Given the description of an element on the screen output the (x, y) to click on. 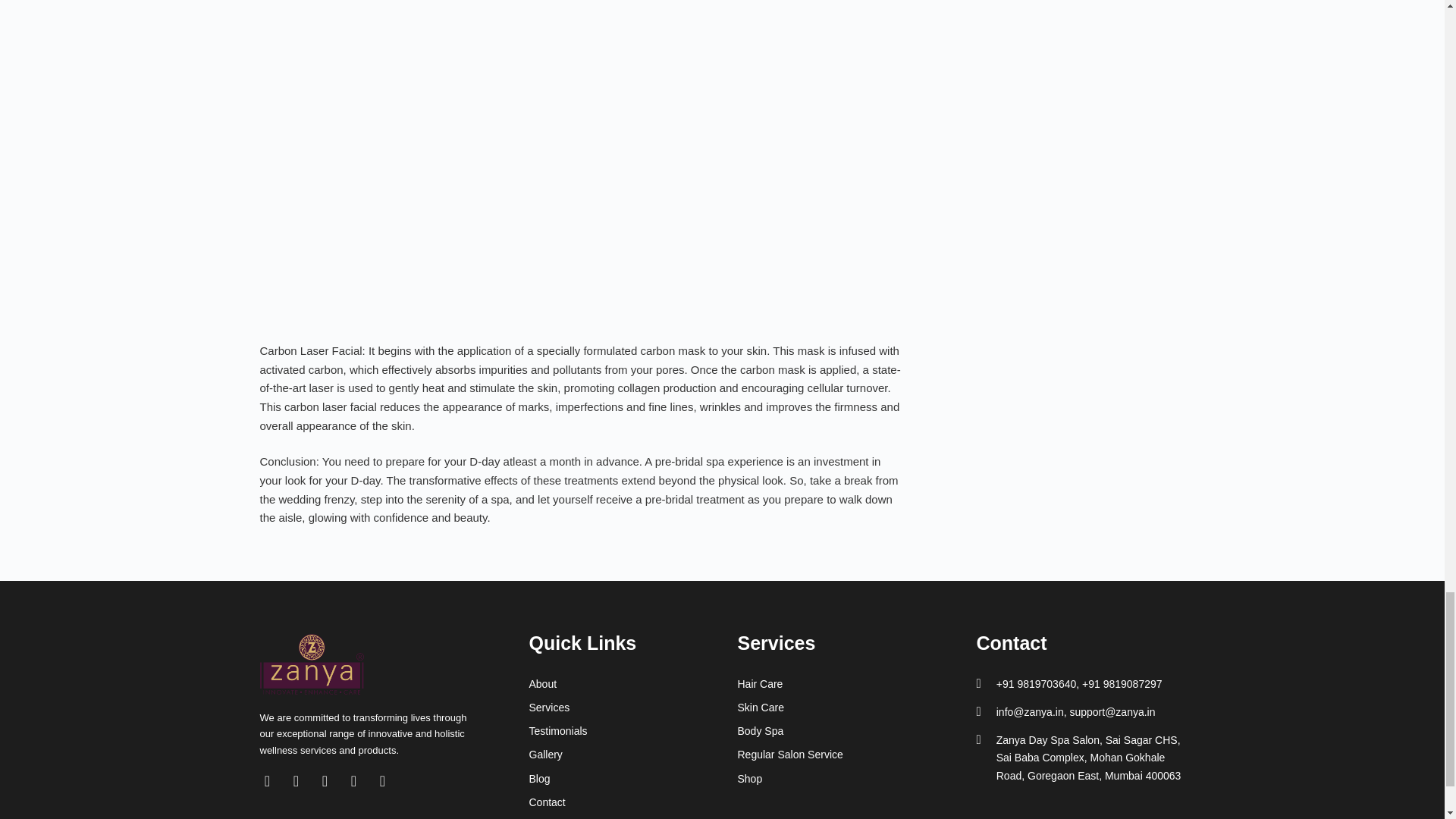
Services (633, 707)
Gallery (633, 754)
Contact (633, 802)
Body Spa (840, 731)
Hair Care (840, 683)
Blog (633, 778)
Regular Salon Service (840, 754)
Testimonials (633, 731)
About (633, 683)
Skin Care (840, 707)
